Given the description of an element on the screen output the (x, y) to click on. 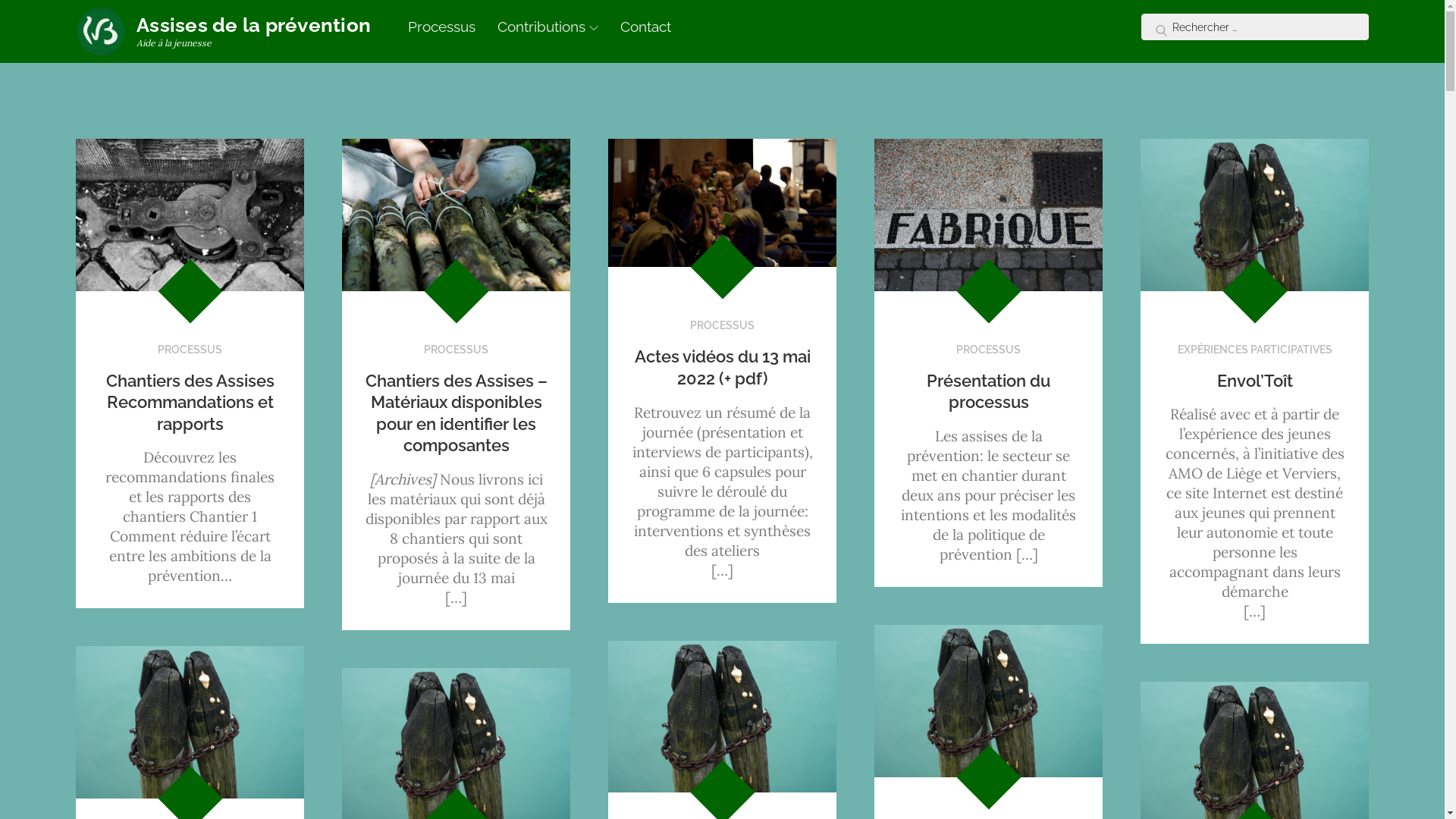
Rechercher Element type: text (1156, 27)
PROCESSUS Element type: text (455, 349)
PROCESSUS Element type: text (988, 349)
PROCESSUS Element type: text (189, 349)
Processus Element type: text (441, 26)
Chantiers des Assises Recommandations et rapports Element type: text (190, 401)
PROCESSUS Element type: text (722, 325)
Contributions Element type: text (547, 26)
Rechercher: Element type: hover (1254, 26)
Contact Element type: text (645, 26)
